Given the description of an element on the screen output the (x, y) to click on. 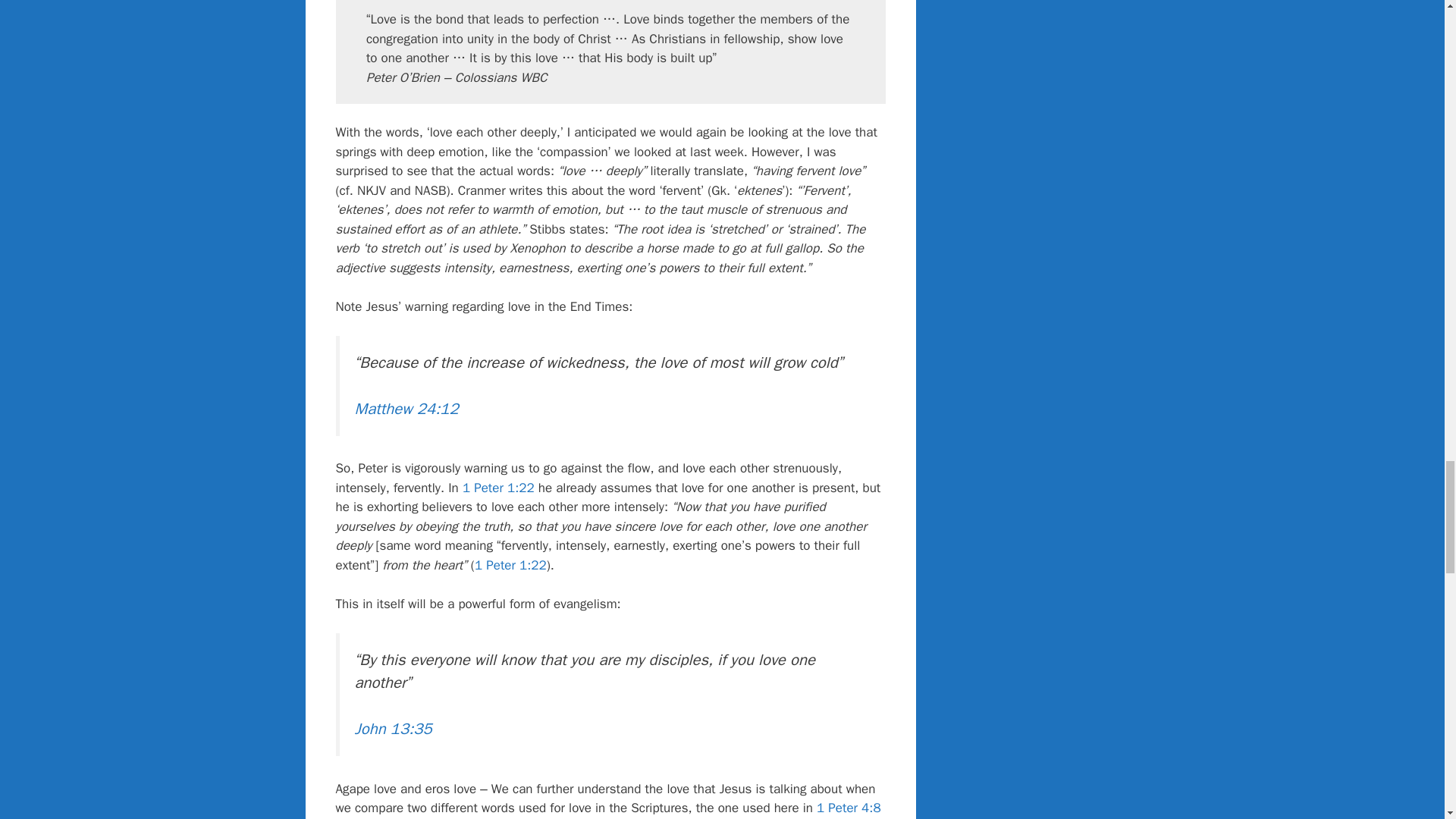
1 Peter 1:22 (510, 565)
1 Peter 1:22 (498, 487)
1 Peter 4:8 (848, 807)
Matthew 24:12 (406, 408)
John 13:35 (393, 728)
